Given the description of an element on the screen output the (x, y) to click on. 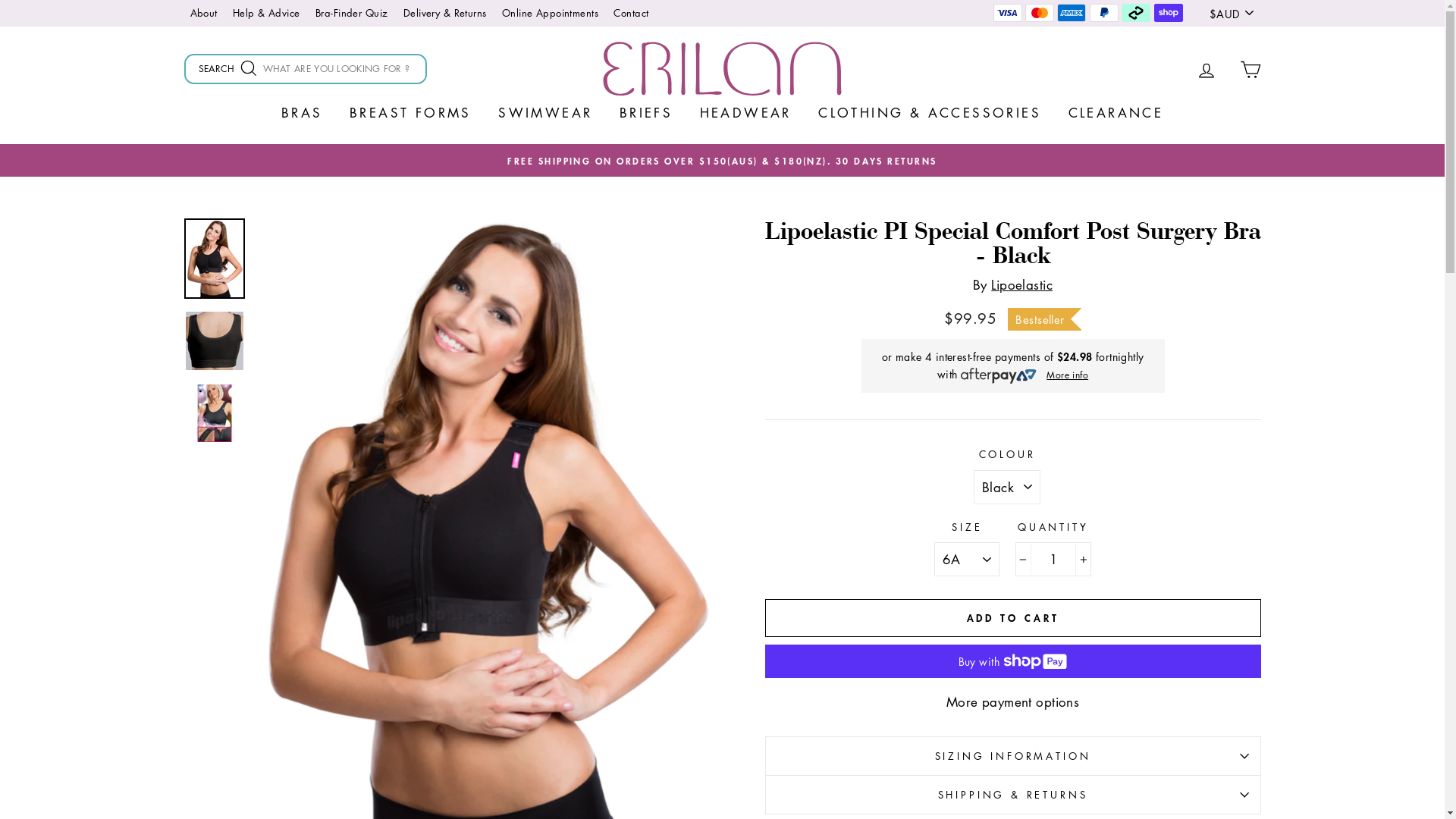
CLEARANCE Element type: text (1116, 112)
Bra-Finder Quiz Element type: text (351, 13)
Contact Element type: text (630, 13)
Delivery & Returns Element type: text (444, 13)
LOG IN Element type: text (1206, 69)
About Element type: text (202, 13)
CLOTHING & ACCESSORIES Element type: text (929, 112)
BRAS Element type: text (301, 112)
Erilan Element type: hover (721, 69)
More payment options Element type: text (1012, 701)
+ Element type: text (1083, 559)
Help & Advice Element type: text (266, 13)
BREAST FORMS Element type: text (410, 112)
Skip to content Element type: text (0, 0)
Lipoelastic Element type: text (1021, 284)
SWIMWEAR Element type: text (544, 112)
SIZING INFORMATION Element type: text (1012, 755)
SHIPPING & RETURNS Element type: text (1012, 794)
SEARCH 
Search Element type: text (234, 68)
More info Element type: text (1067, 373)
HEADWEAR Element type: text (745, 112)
Online Appointments Element type: text (549, 13)
ADD TO CART Element type: text (1012, 618)
BRIEFS Element type: text (646, 112)
CART Element type: text (1249, 69)
